Given the description of an element on the screen output the (x, y) to click on. 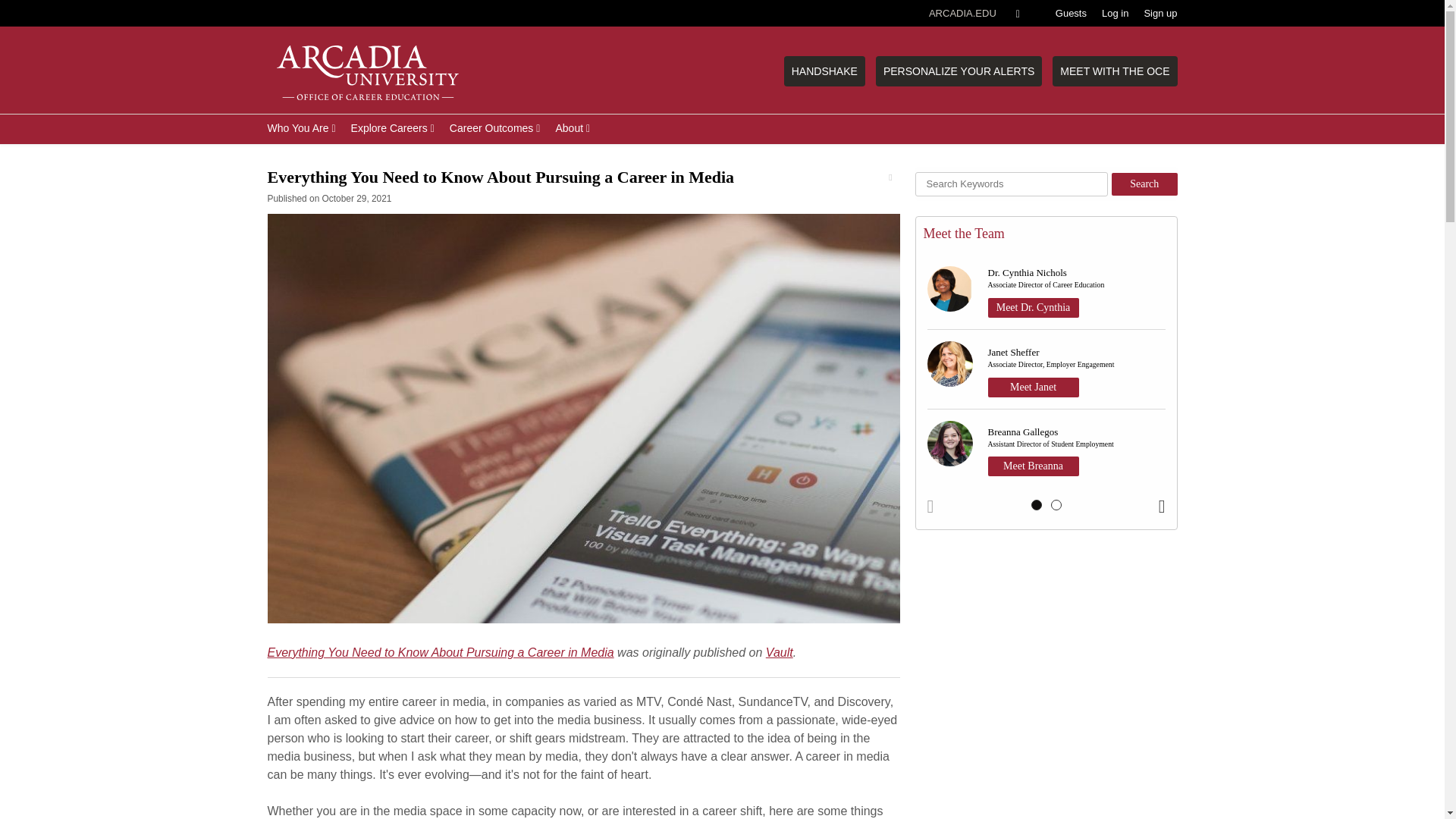
Sign up for an account (1159, 13)
PERSONALIZE YOUR ALERTS (959, 71)
Explore Careers (392, 127)
MEET WITH THE OCE (1114, 71)
Submit Search (49, 9)
ARCADIA.EDU (961, 13)
Guests (1070, 13)
Search (1144, 183)
Who You Are (300, 127)
HANDSHAKE (824, 71)
Sign up (1159, 13)
Log in to the guest contributors portal (1070, 13)
Log in (1115, 13)
